Given the description of an element on the screen output the (x, y) to click on. 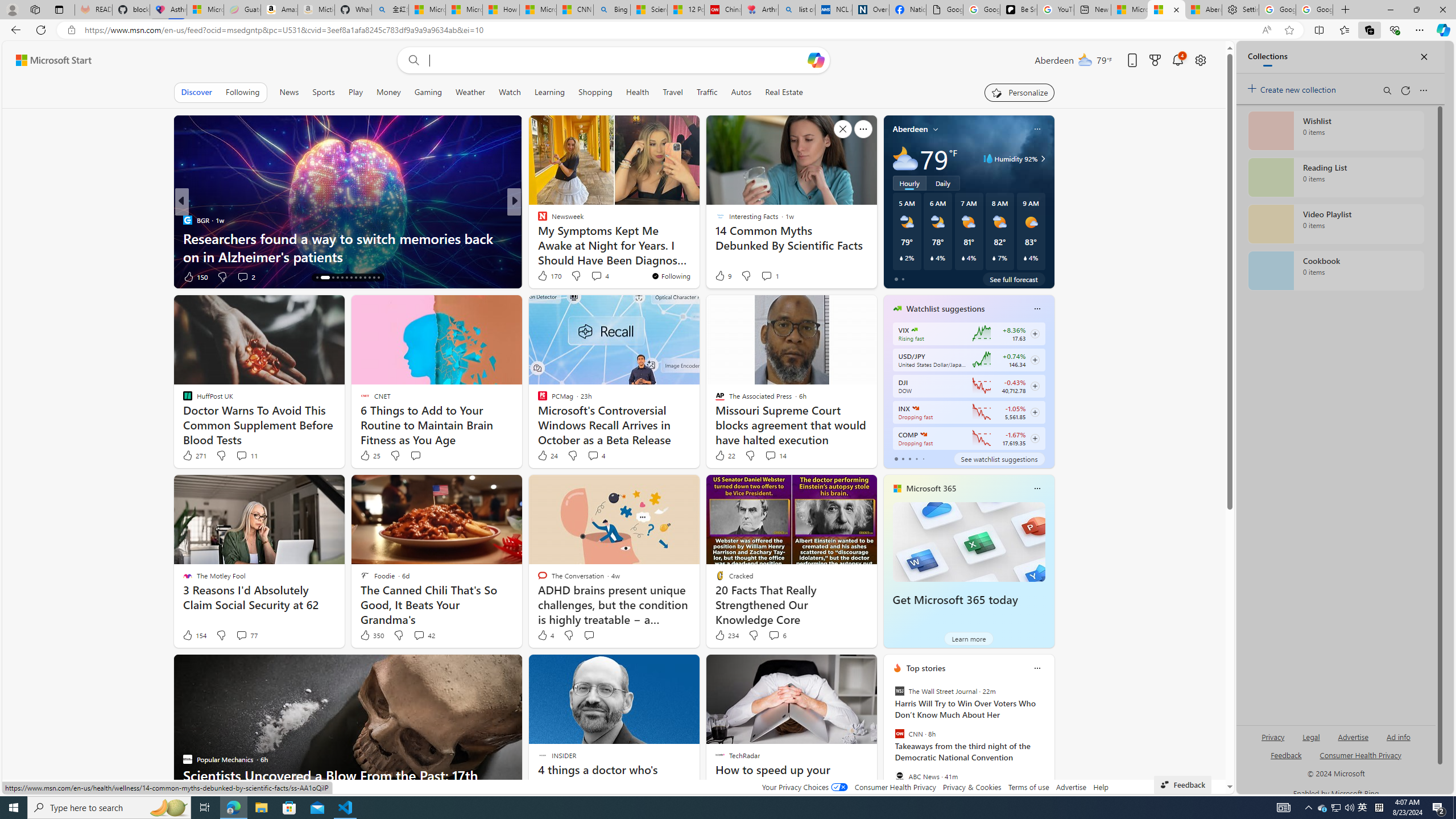
Personalize your feed" (1019, 92)
You're following FOX News (839, 279)
How to clear your browser cache and cookies (697, 256)
View comments 85 Comment (247, 276)
tab-1 (903, 458)
271 Like (193, 455)
